Given the description of an element on the screen output the (x, y) to click on. 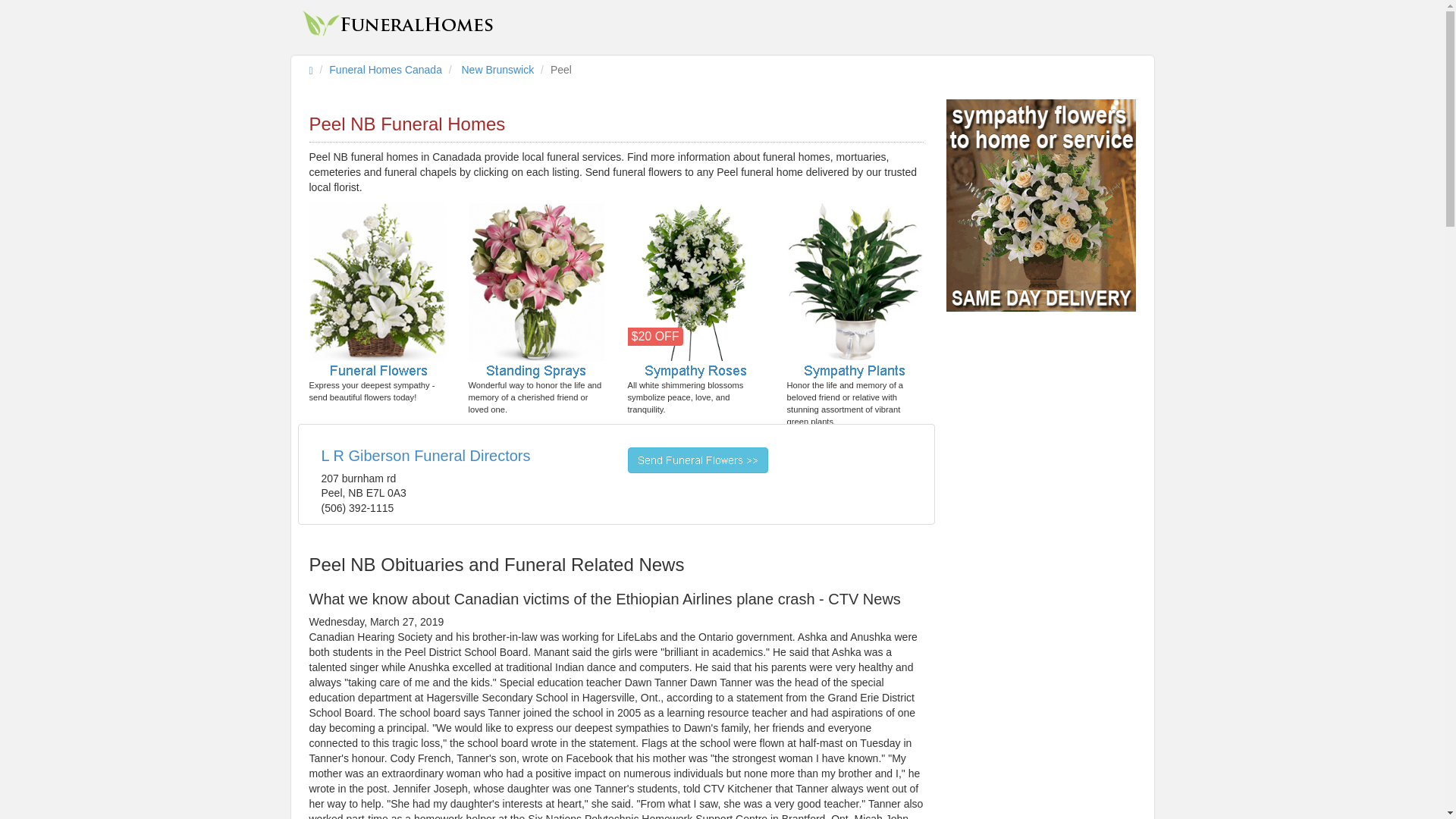
Funeral Homes Canada (385, 69)
L R Giberson Funeral Directors (426, 455)
New Brunswick (497, 69)
